Given the description of an element on the screen output the (x, y) to click on. 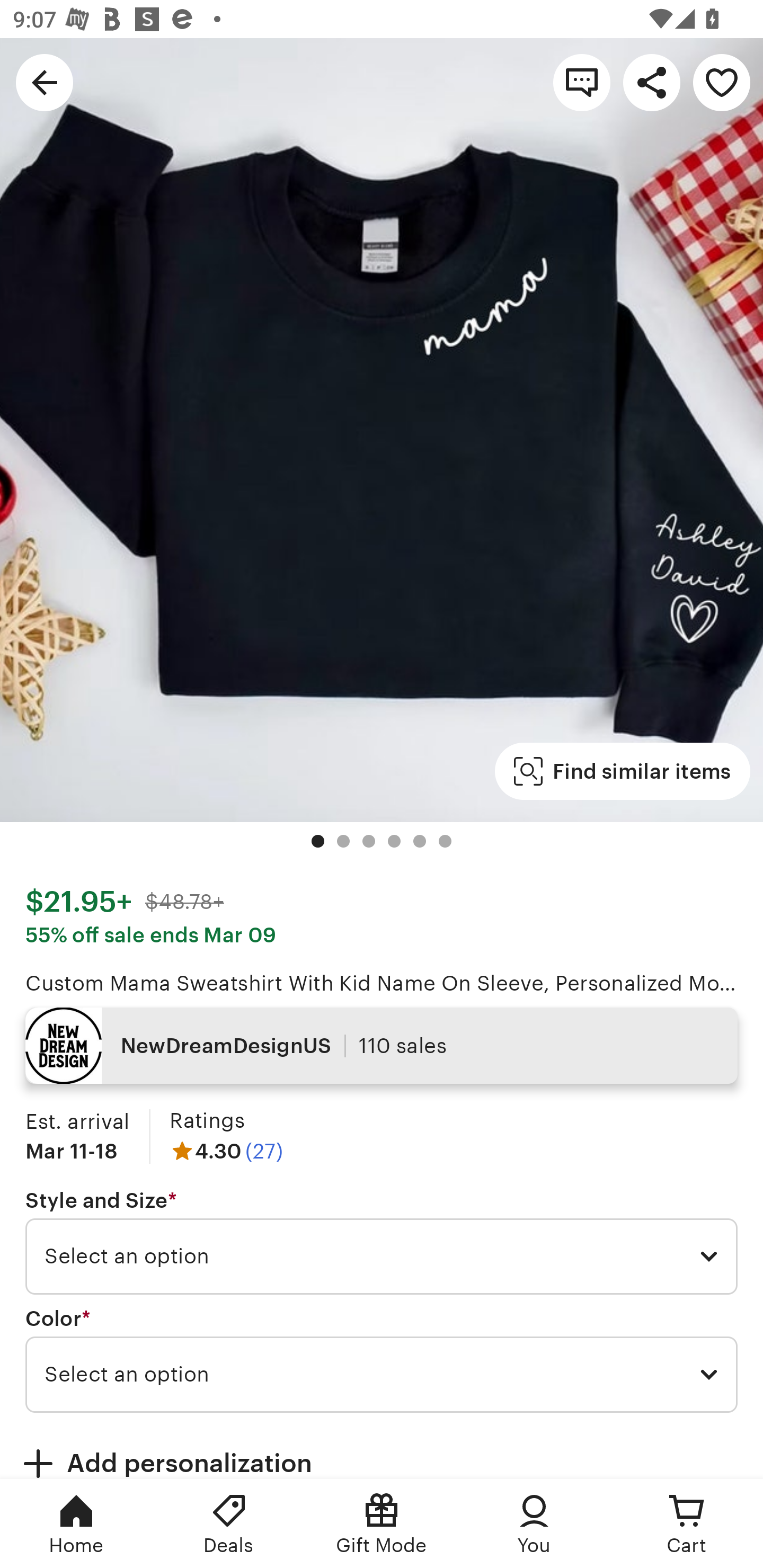
Navigate up (44, 81)
Contact shop (581, 81)
Share (651, 81)
Find similar items (622, 771)
NewDreamDesignUS 110 sales (381, 1045)
Ratings (206, 1120)
4.30 (27) (226, 1150)
Style and Size * Required Select an option (381, 1241)
Select an option (381, 1256)
Color * Required Select an option (381, 1359)
Select an option (381, 1373)
Add personalization Add personalization Required (381, 1451)
Deals (228, 1523)
Gift Mode (381, 1523)
You (533, 1523)
Cart (686, 1523)
